Given the description of an element on the screen output the (x, y) to click on. 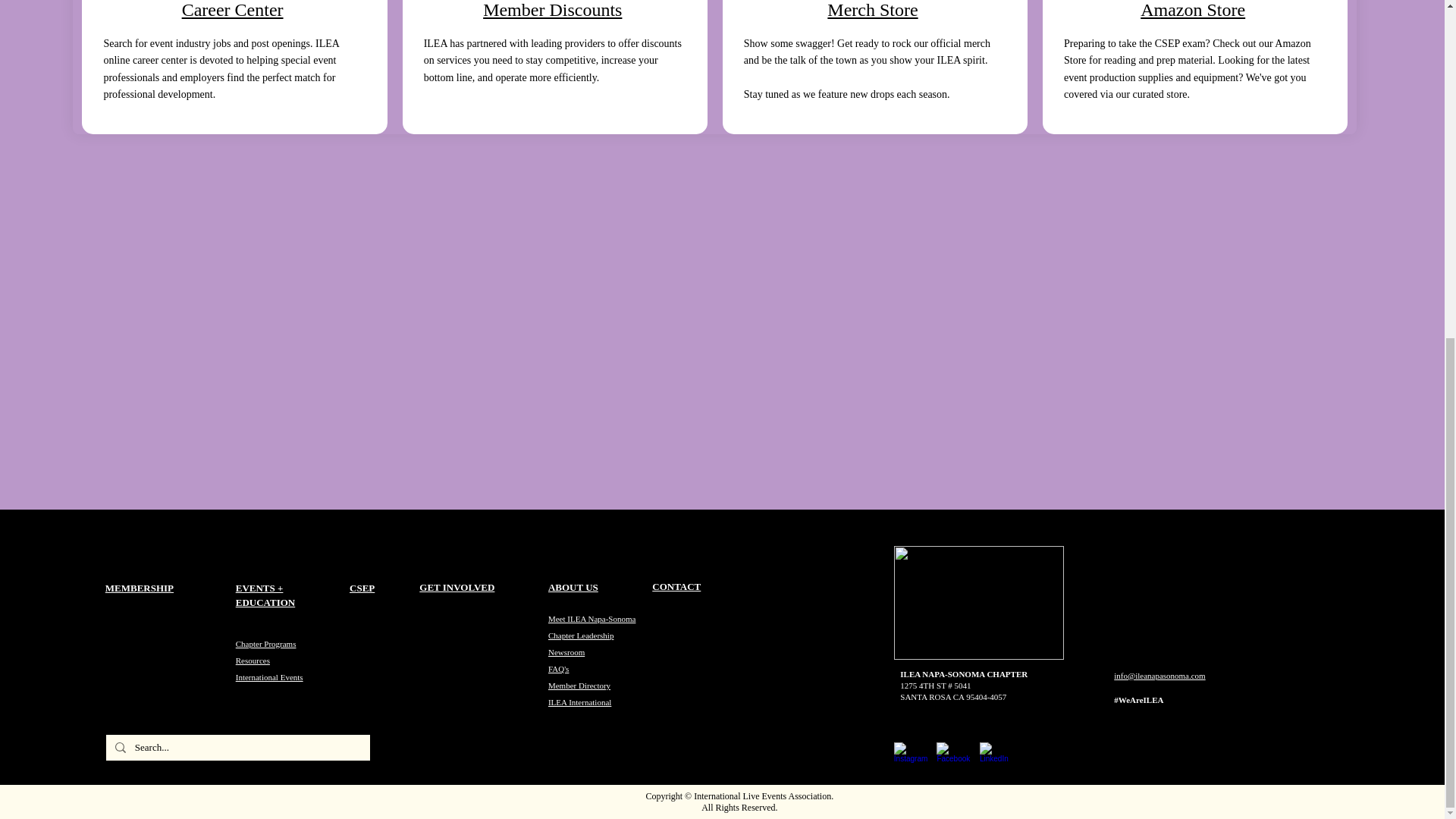
MEMBERSHIP (138, 587)
Career Center (232, 9)
Amazon Store (1192, 9)
Member Discounts (552, 9)
Merch Store (872, 9)
